Given the description of an element on the screen output the (x, y) to click on. 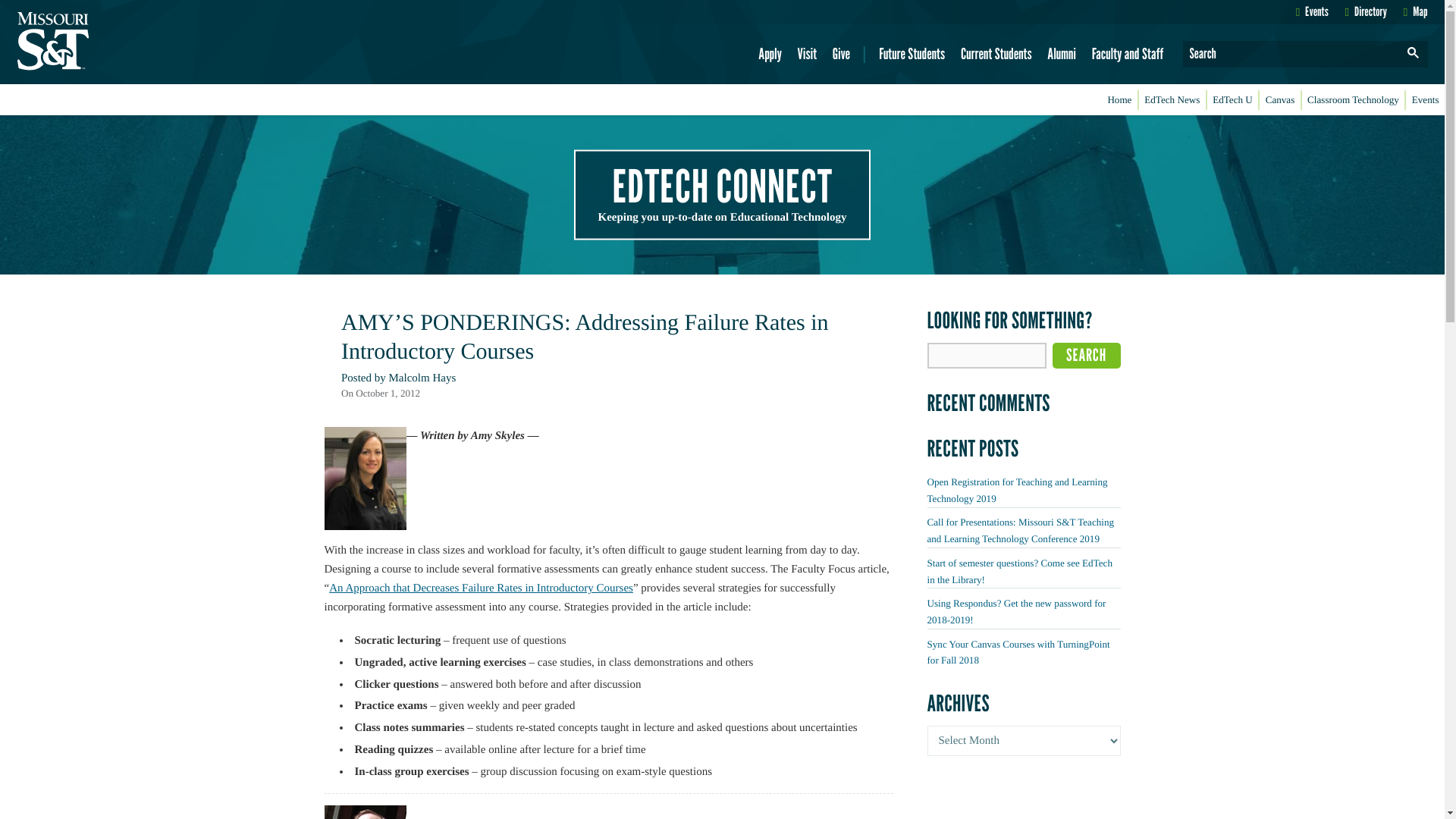
EdTech U (1233, 99)
Visit (806, 53)
Alumni (1061, 53)
Faculty and Staff (1127, 53)
Future Students (911, 53)
EdTech News (1171, 99)
Canvas (1279, 99)
Classroom Technology (1353, 99)
EDTECH CONNECT (721, 185)
Posts by Malcolm Hays (422, 378)
